Given the description of an element on the screen output the (x, y) to click on. 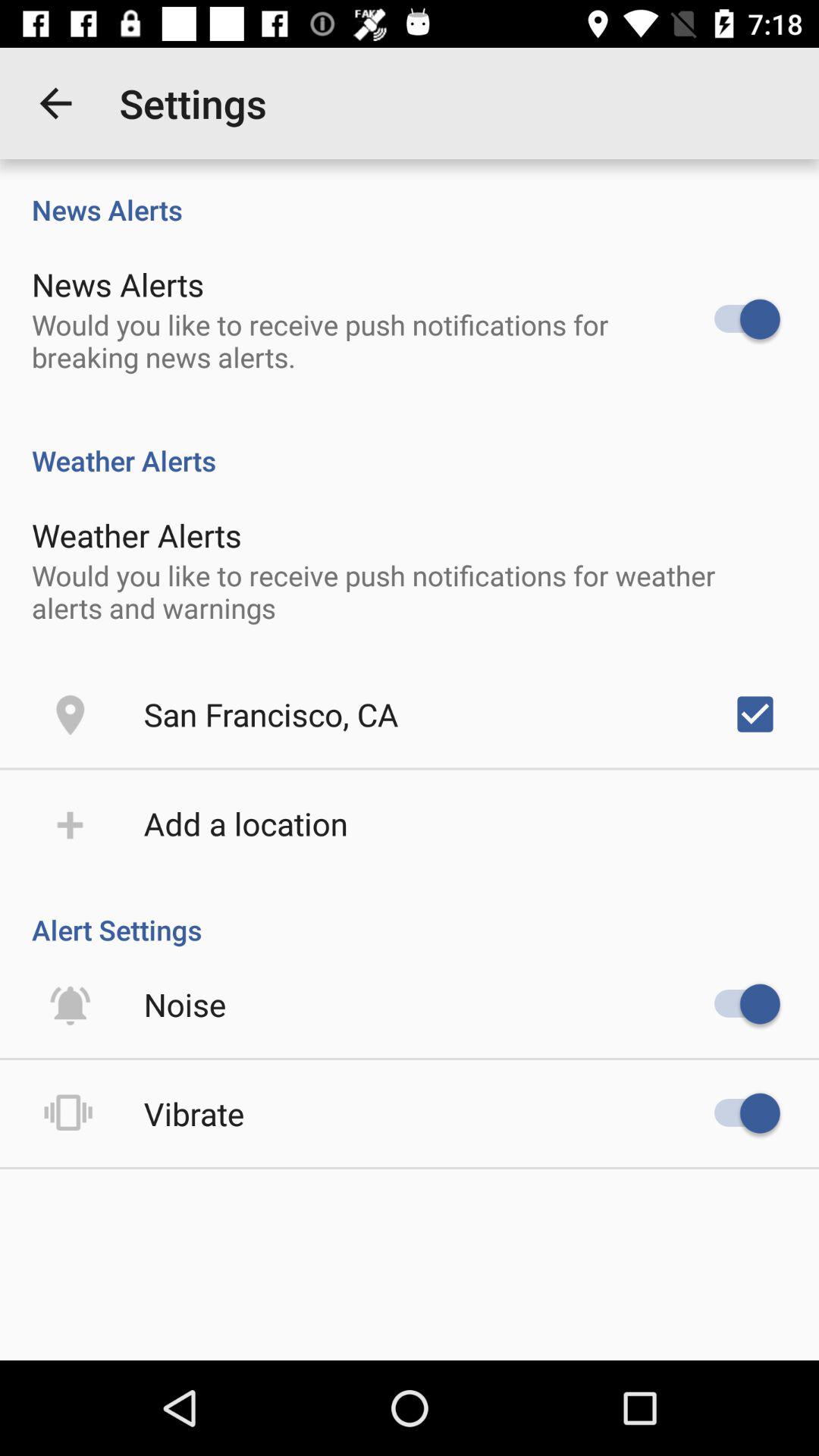
press item to the right of the san francisco, ca (755, 714)
